Given the description of an element on the screen output the (x, y) to click on. 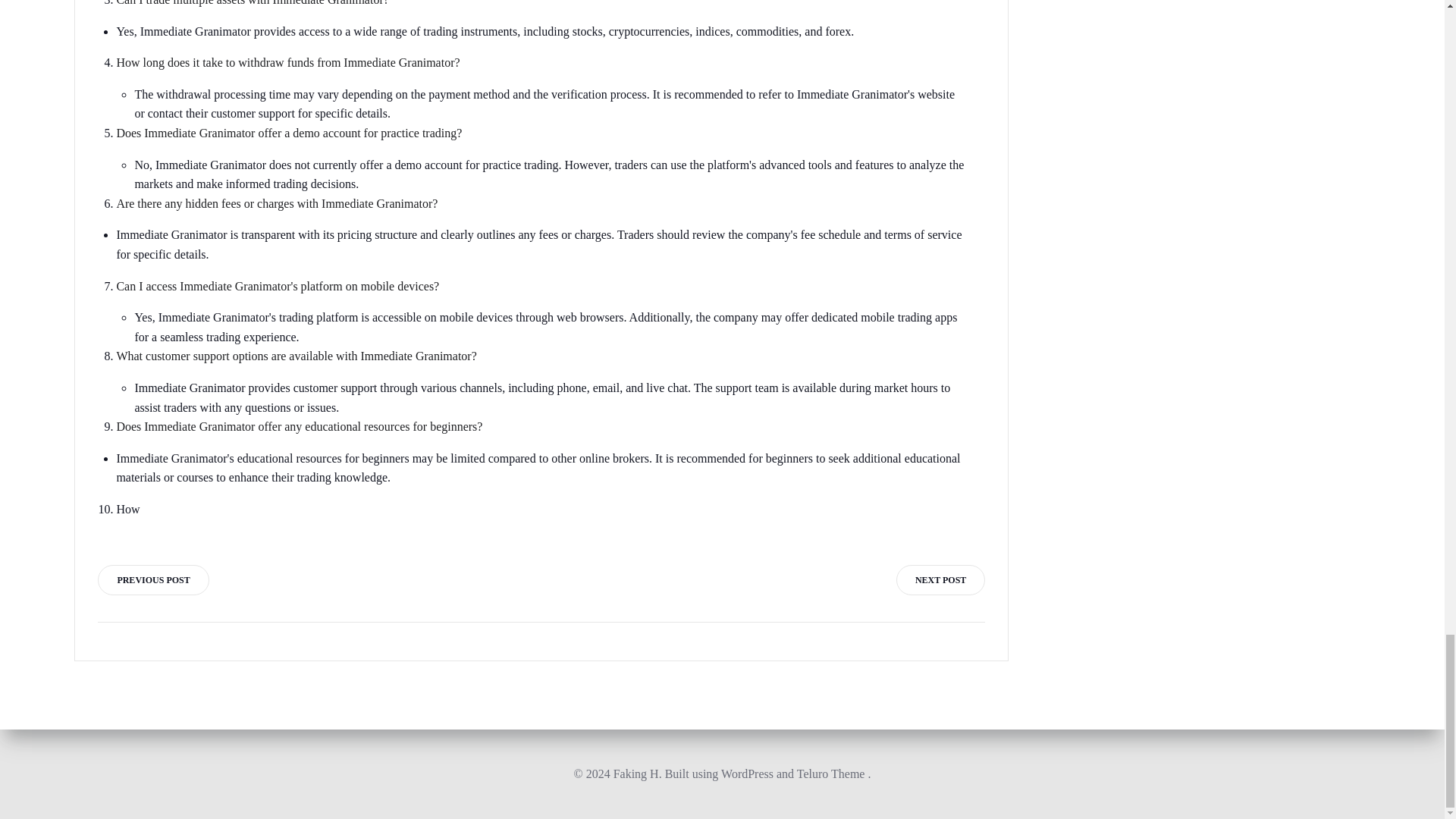
NEXT POST (940, 580)
PREVIOUS POST (152, 580)
